Given the description of an element on the screen output the (x, y) to click on. 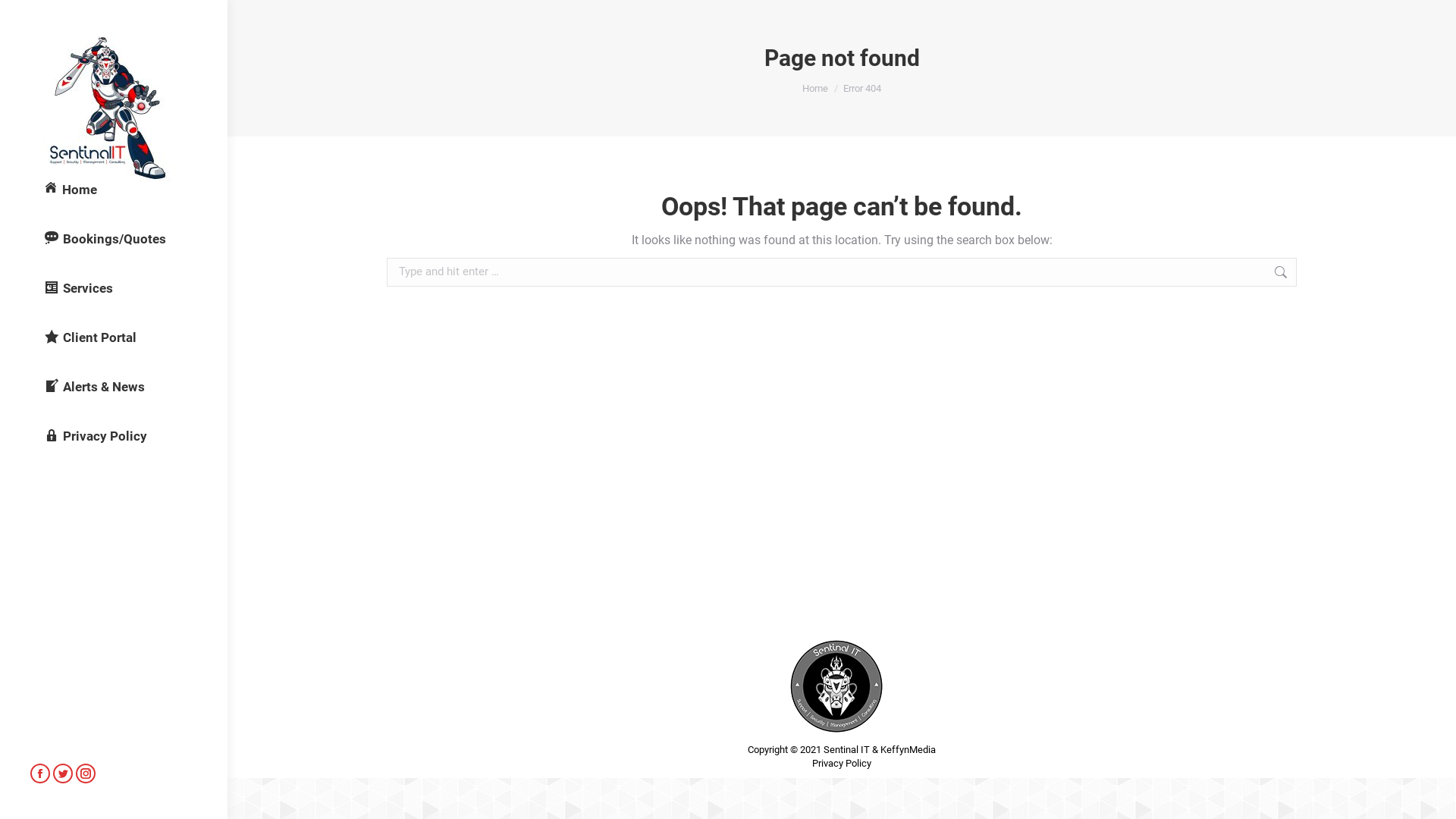
Privacy Policy Element type: text (95, 436)
Instagram page opens in new window Element type: text (85, 773)
Bookings/Quotes Element type: text (104, 239)
Home Element type: text (70, 189)
Go! Element type: text (1319, 274)
Twitter page opens in new window Element type: text (62, 773)
Alerts & News Element type: text (93, 387)
Privacy Policy Element type: text (841, 763)
Client Portal Element type: text (89, 337)
Home Element type: text (815, 88)
Facebook page opens in new window Element type: text (40, 773)
Services Element type: text (78, 288)
